Given the description of an element on the screen output the (x, y) to click on. 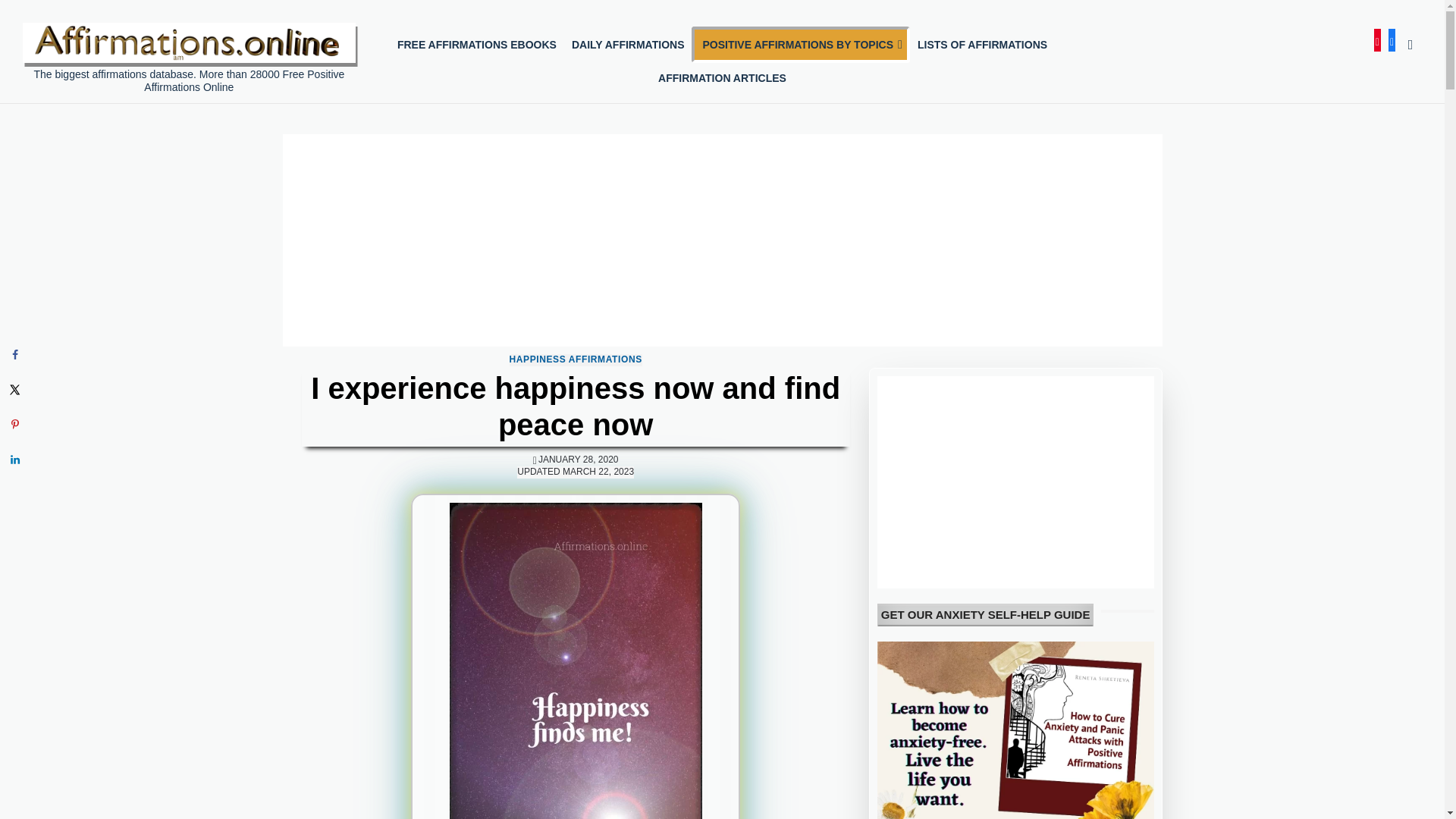
DAILY AFFIRMATIONS (628, 44)
FREE AFFIRMATIONS EBOOKS (477, 44)
POSITIVE AFFIRMATIONS BY TOPICS (800, 44)
